Given the description of an element on the screen output the (x, y) to click on. 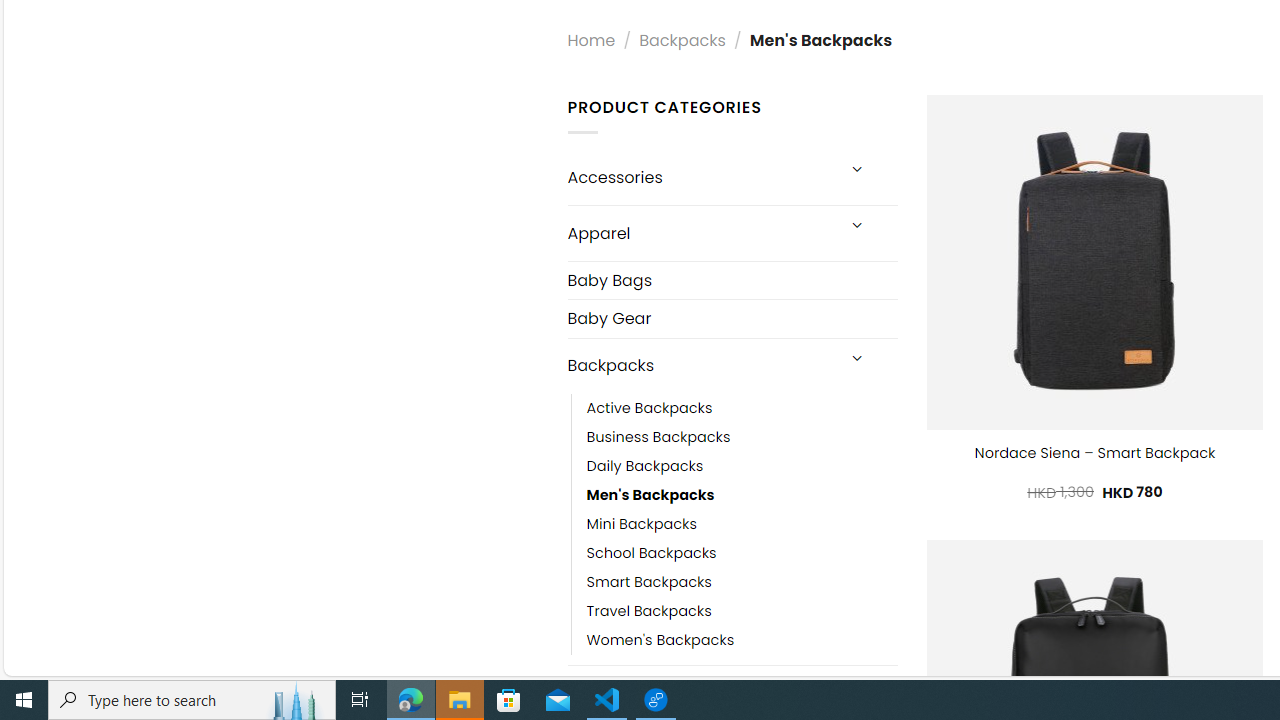
Women's Backpacks (660, 639)
Accessories (700, 177)
Daily Backpacks (645, 465)
Travel Backpacks (648, 610)
Home (591, 39)
Active Backpacks (742, 408)
Apparel (700, 232)
Travel Backpacks (742, 610)
School Backpacks (651, 552)
Baby Gear (732, 318)
Men's Backpacks (742, 494)
